Given the description of an element on the screen output the (x, y) to click on. 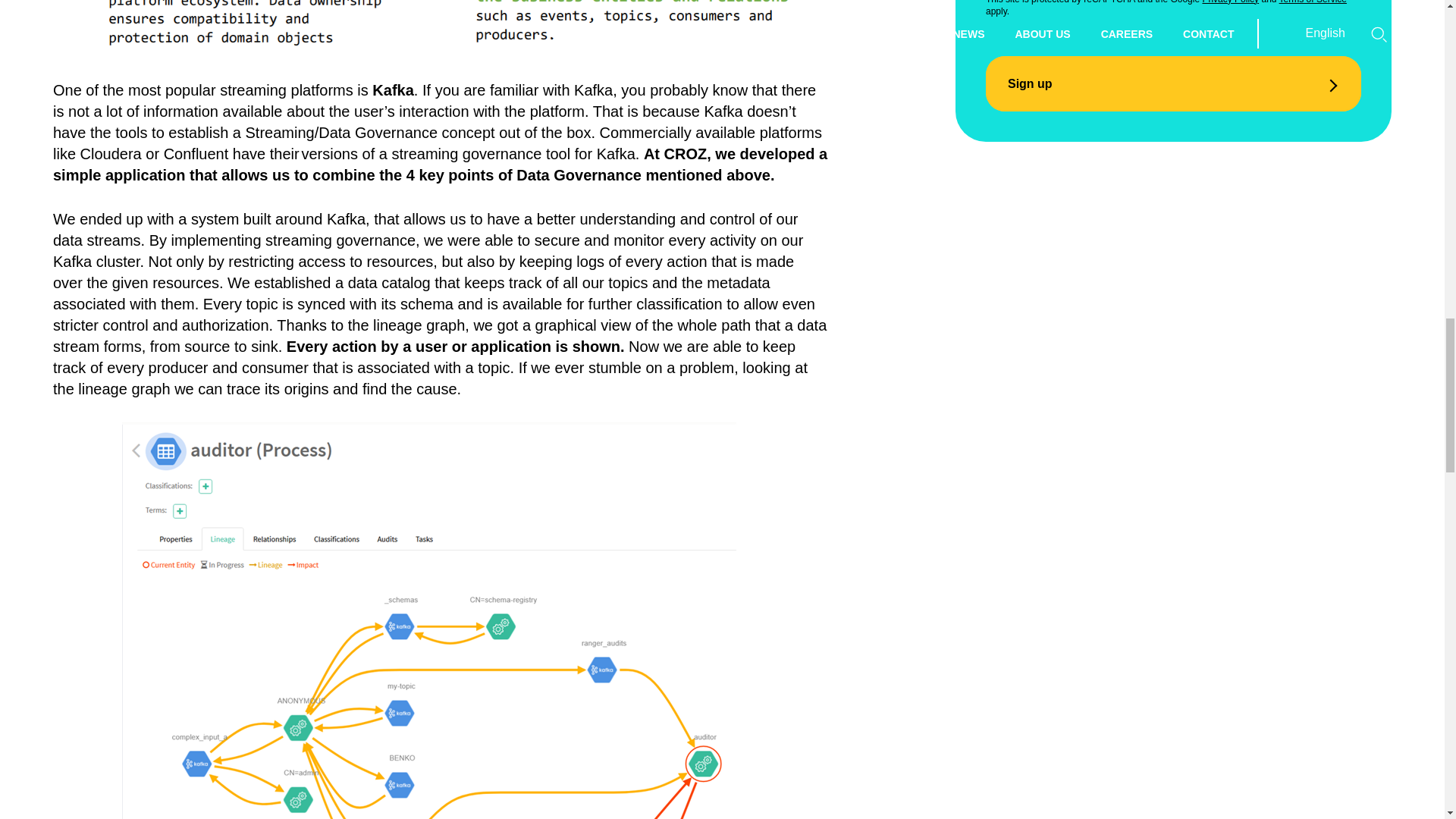
Terms of Service (1312, 2)
Sign up (1173, 83)
Privacy Policy (1230, 2)
